Given the description of an element on the screen output the (x, y) to click on. 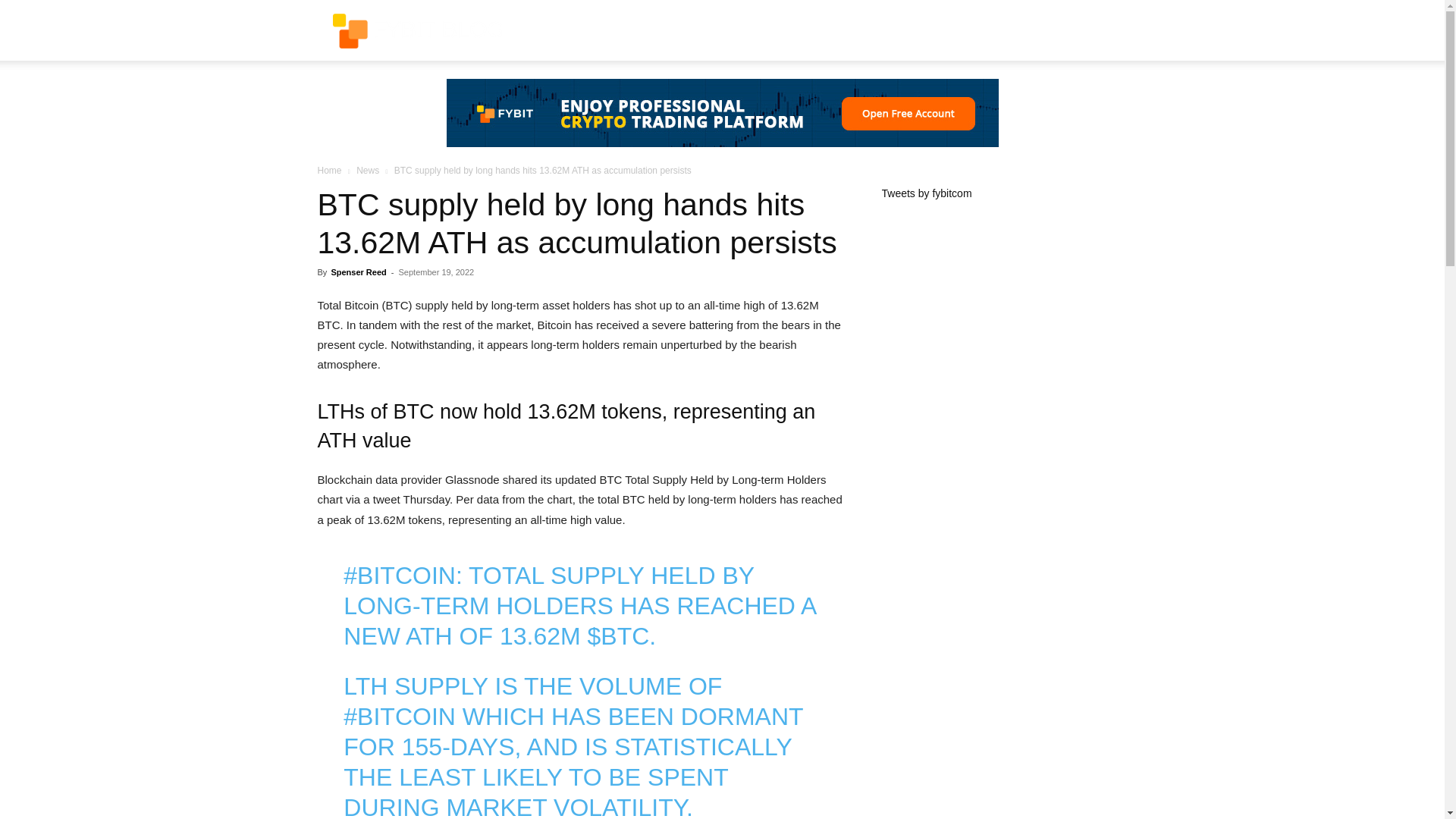
FYBIT (416, 30)
FYBIT blog (416, 30)
Spenser Reed (357, 271)
FOR AFFILIATES (847, 30)
View all posts in News (367, 170)
GUIDES (626, 30)
EDUCATION (699, 30)
News (367, 170)
Home (328, 170)
